Given the description of an element on the screen output the (x, y) to click on. 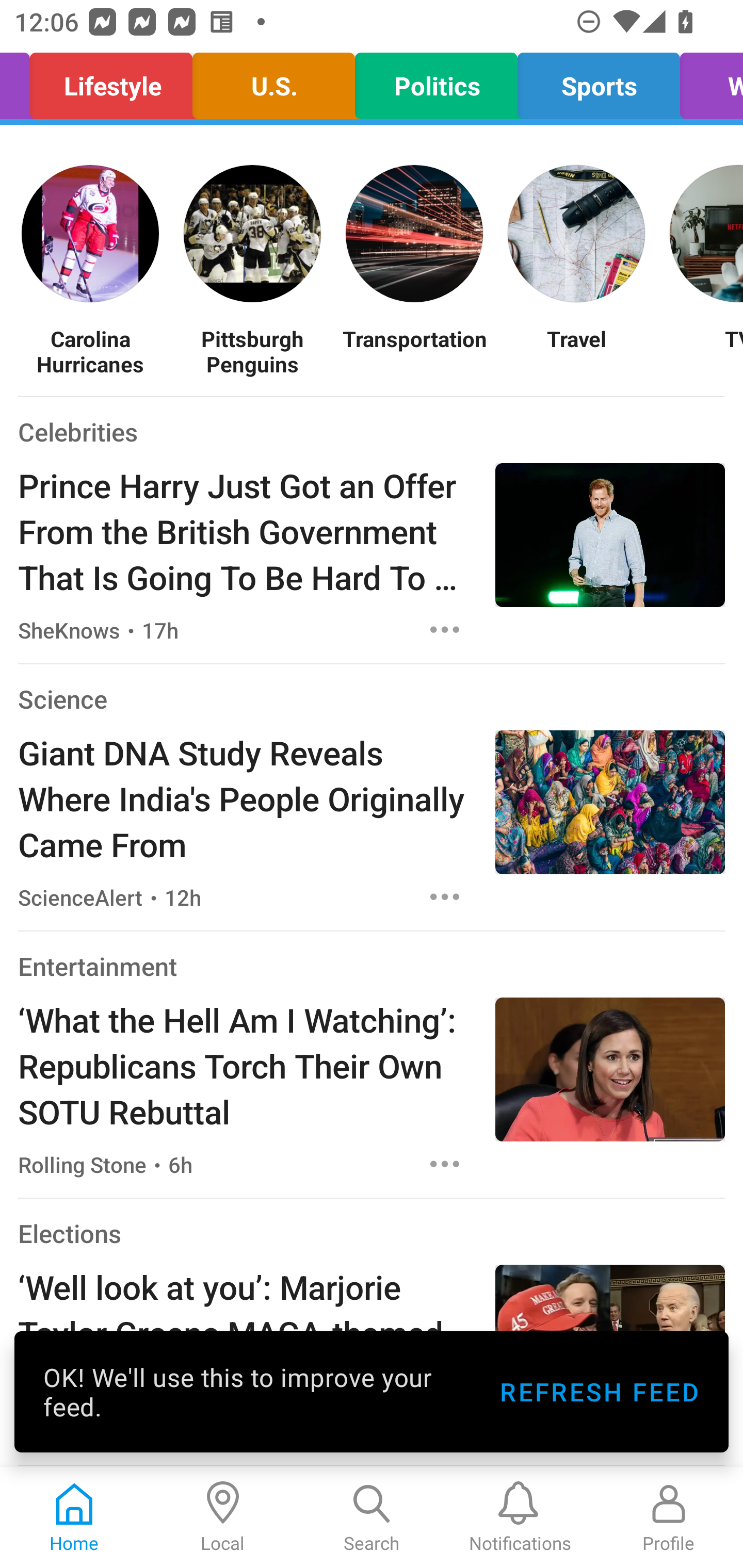
Lifestyle (111, 81)
U.S. (273, 81)
Politics (436, 81)
Sports (598, 81)
Carolina Hurricanes (89, 350)
Pittsburgh Penguins (251, 350)
Transportation (413, 350)
Travel (575, 350)
Celebrities (77, 430)
Options (444, 629)
Science (61, 699)
Options (444, 896)
Entertainment (97, 965)
Options (444, 1164)
Elections (69, 1232)
REFRESH FEED (598, 1391)
Local (222, 1517)
Search (371, 1517)
Notifications (519, 1517)
Profile (668, 1517)
